Given the description of an element on the screen output the (x, y) to click on. 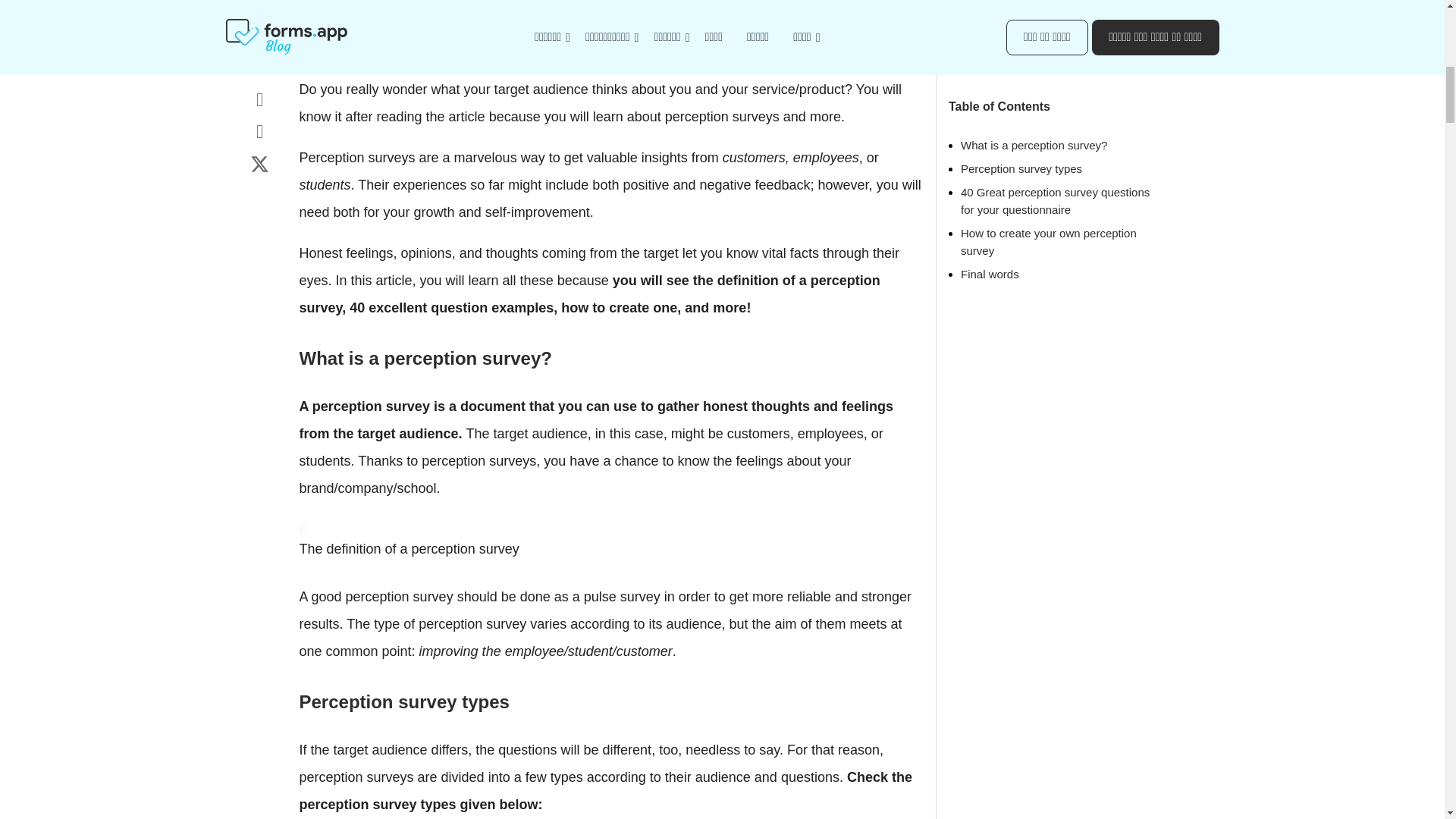
What is a perception survey? (1033, 123)
How to create your own perception survey (1048, 220)
40 Great perception survey questions for your questionnaire (1055, 179)
Final words (989, 252)
Perception survey types (1020, 146)
